Given the description of an element on the screen output the (x, y) to click on. 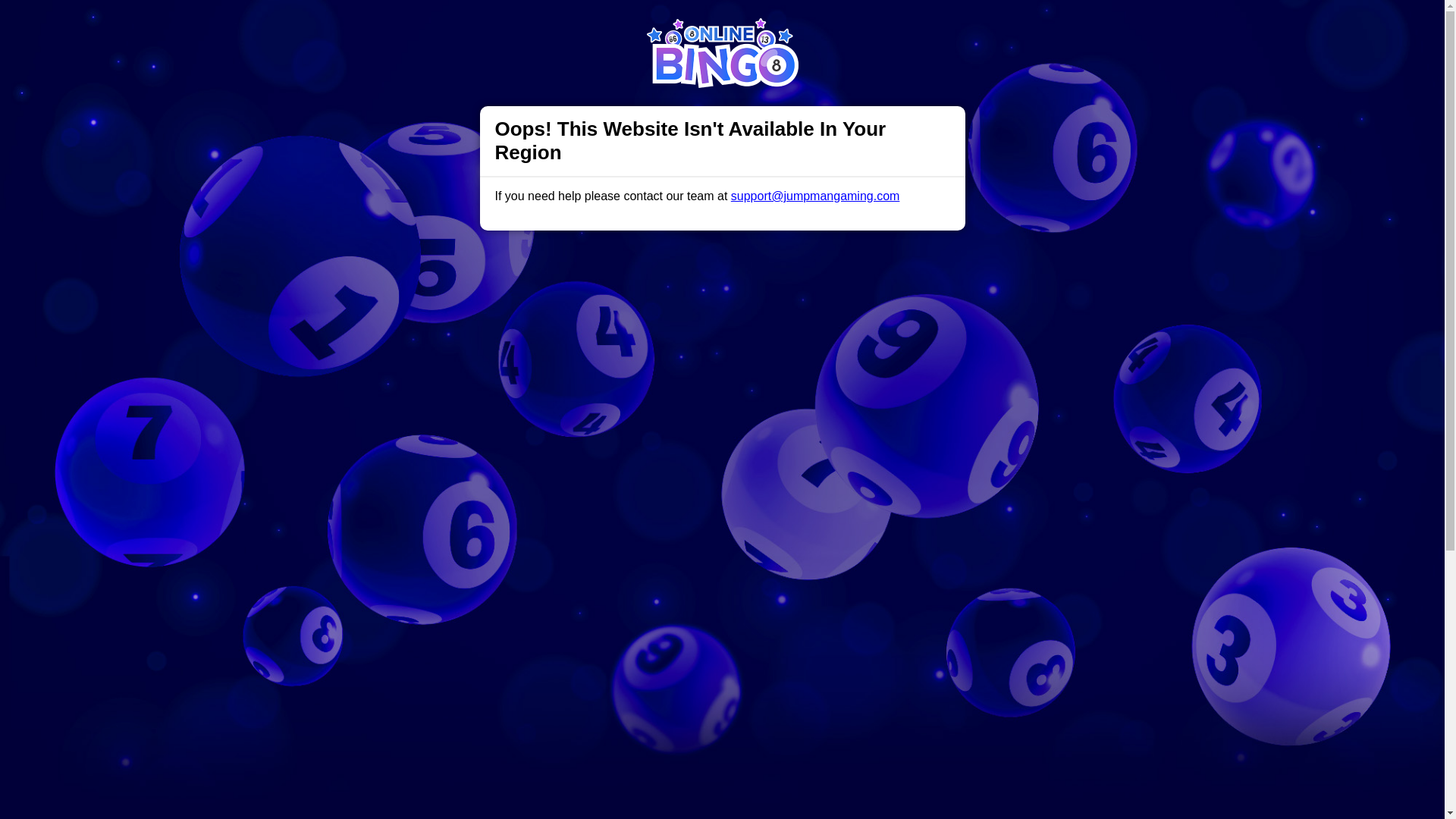
Cookie Policy (800, 799)
All Games (600, 26)
Back To All Games (721, 783)
Join Now (1054, 26)
Trophies (456, 26)
Back To All Games (722, 783)
Login (963, 26)
Promotions (526, 26)
